Given the description of an element on the screen output the (x, y) to click on. 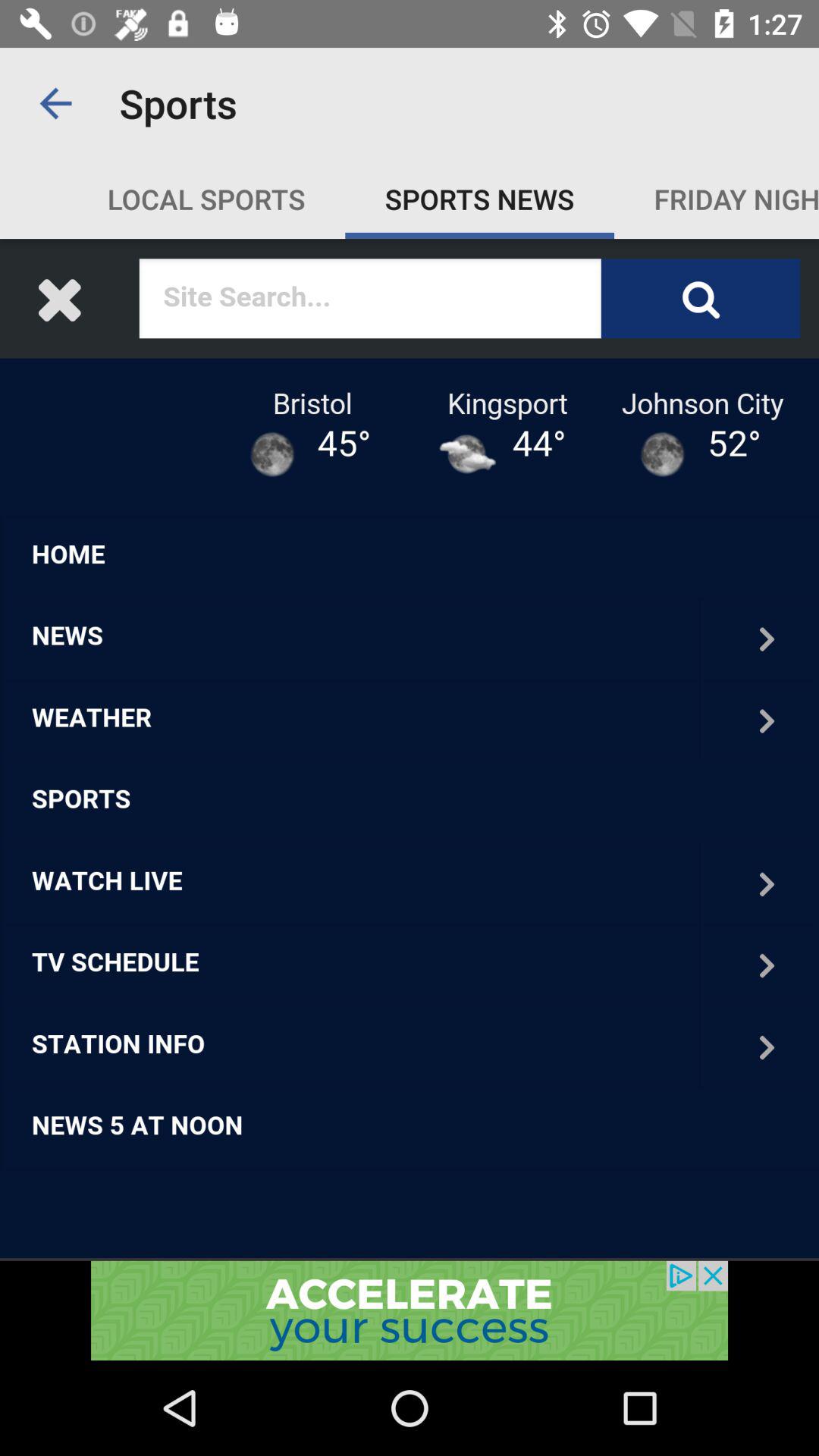
go to image (409, 749)
